Given the description of an element on the screen output the (x, y) to click on. 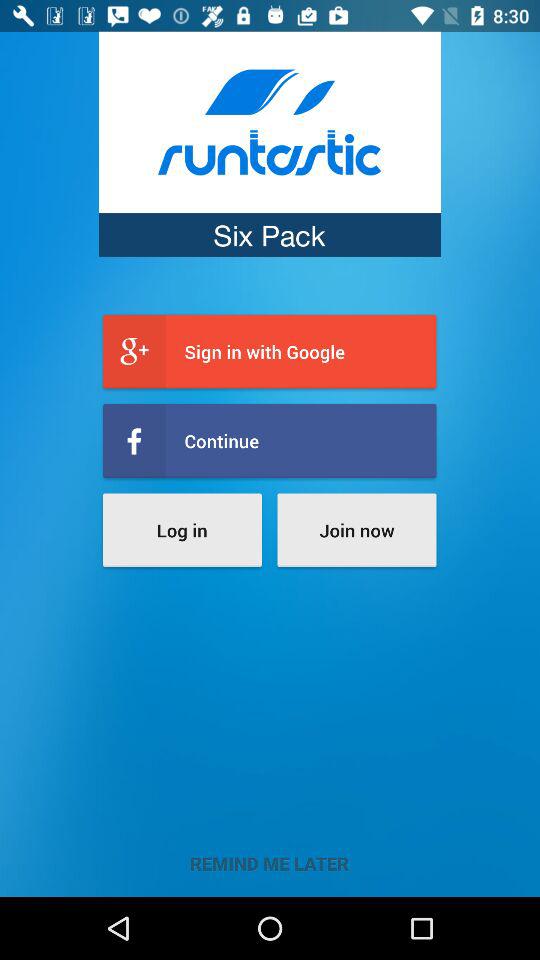
click the icon next to the log in icon (356, 529)
